Given the description of an element on the screen output the (x, y) to click on. 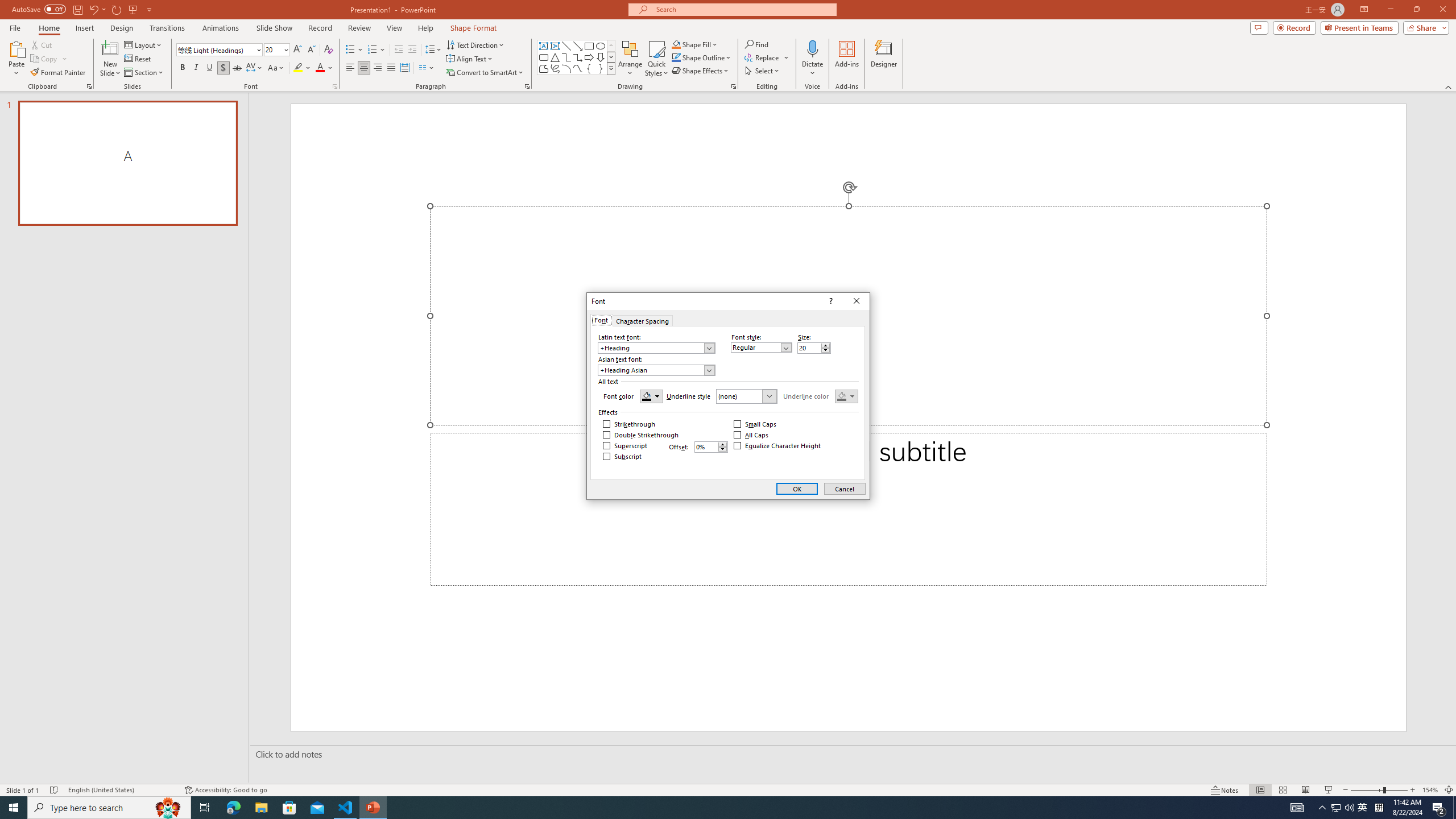
Offset (711, 446)
